Given the description of an element on the screen output the (x, y) to click on. 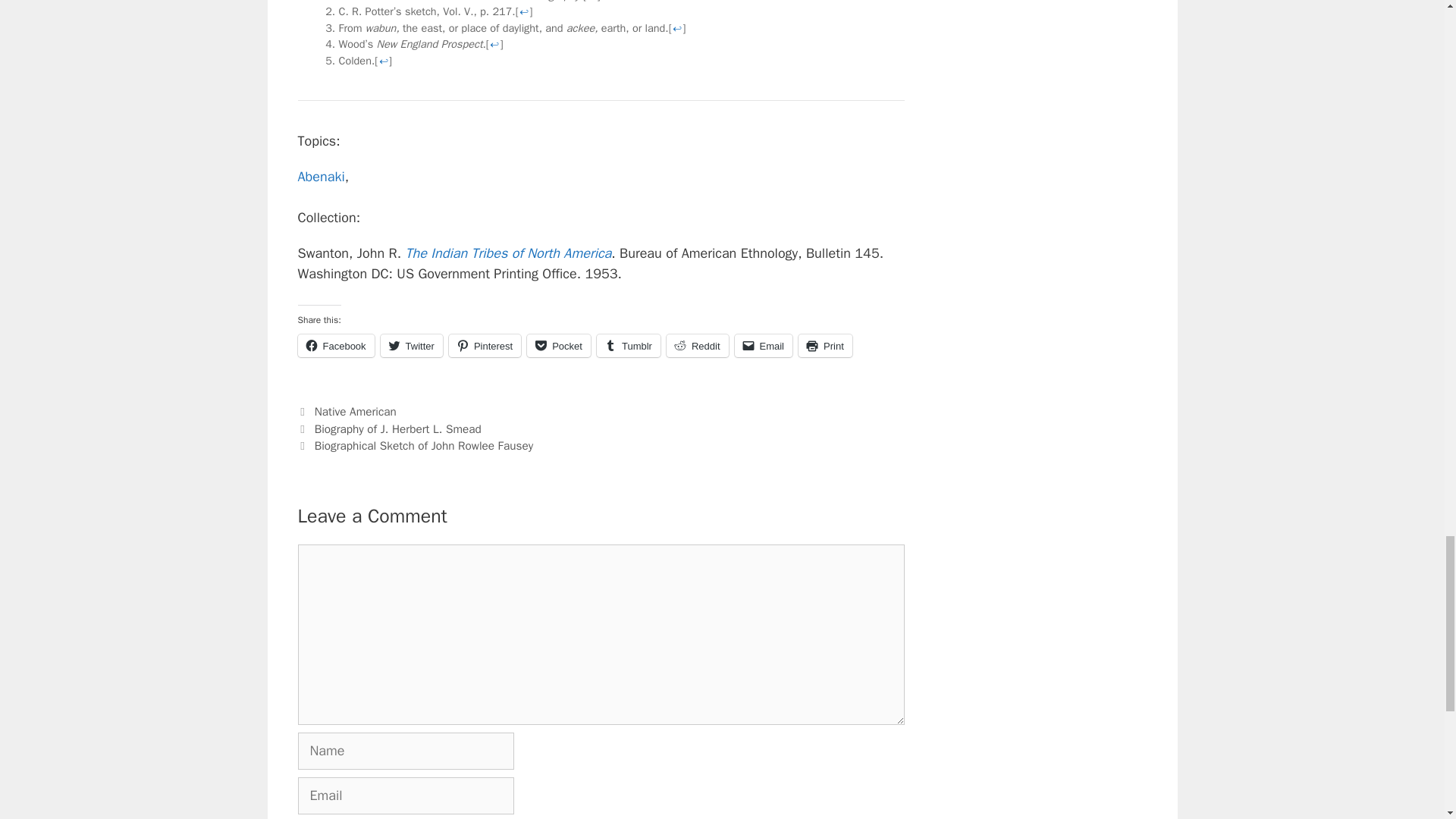
Twitter (411, 345)
Reddit (697, 345)
Pocket (559, 345)
Abenaki (320, 176)
Print (824, 345)
Facebook (335, 345)
Email (762, 345)
Biography of J. Herbert L. Smead (397, 428)
Native American (355, 411)
The Indian Tribes of North America (507, 252)
